Given the description of an element on the screen output the (x, y) to click on. 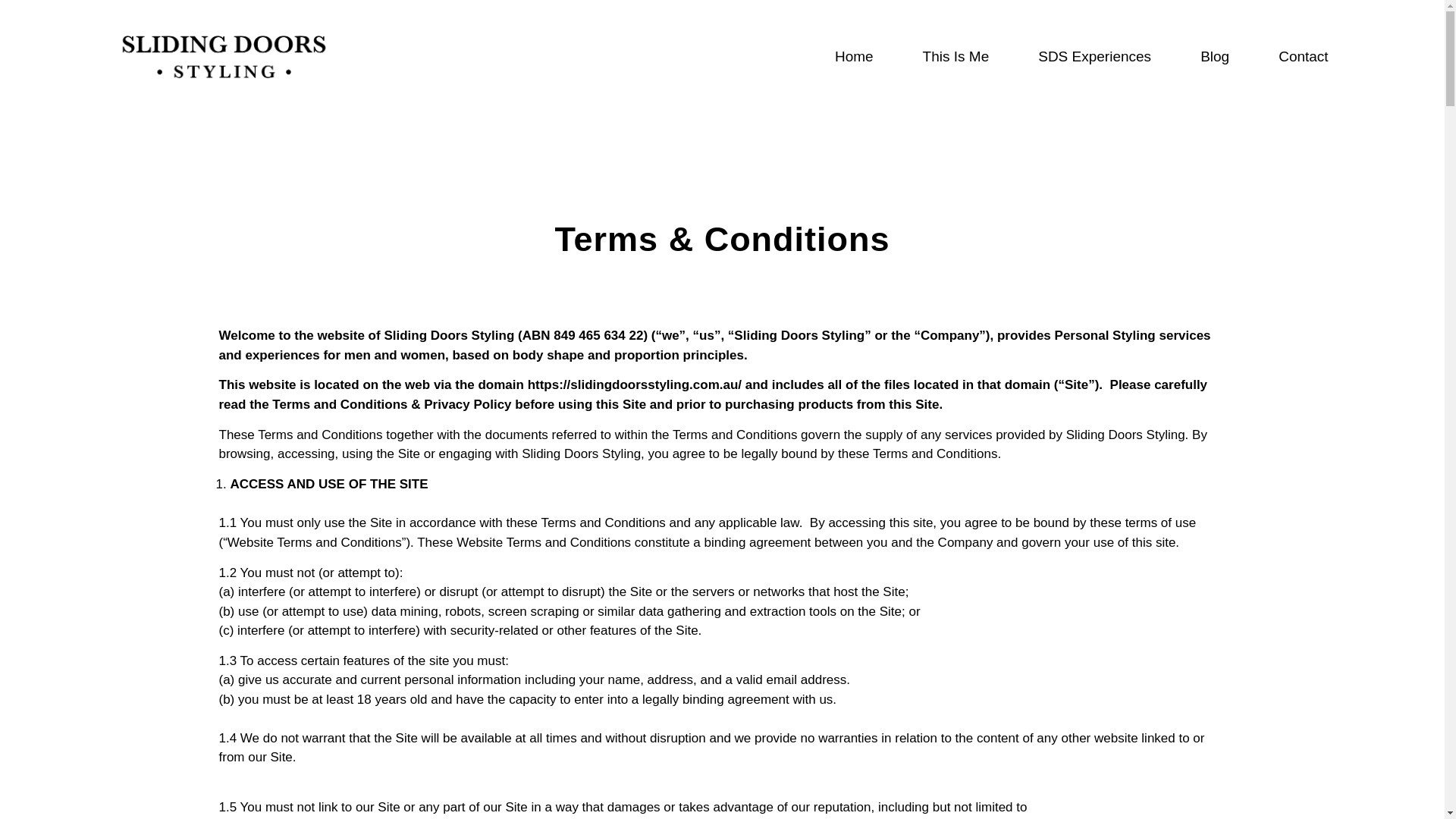
SDS Experiences (1094, 56)
Home (853, 56)
Blog (1214, 56)
Contact (1302, 56)
This Is Me (955, 56)
